Given the description of an element on the screen output the (x, y) to click on. 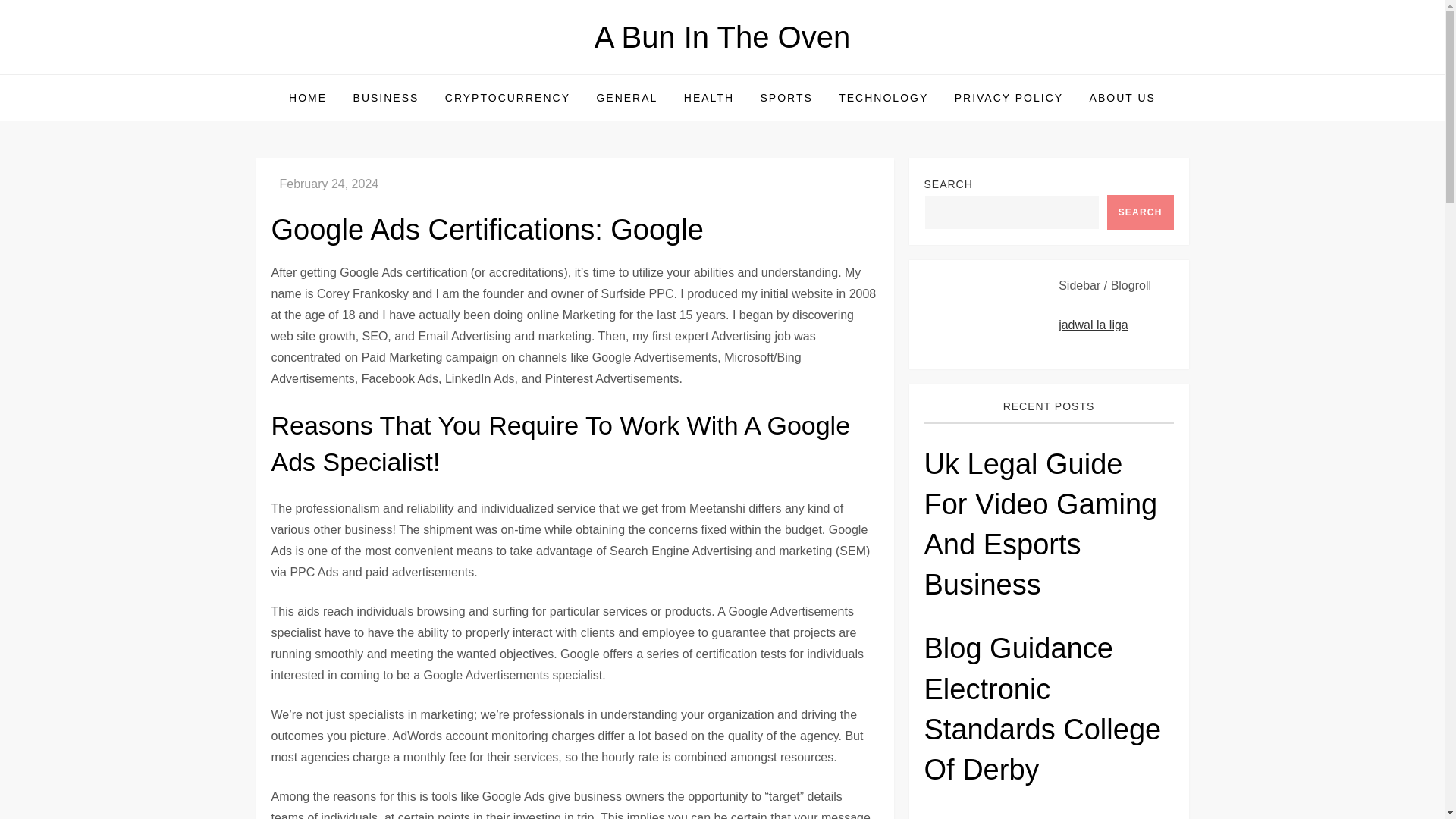
Uk Legal Guide For Video Gaming And Esports Business (1048, 531)
February 24, 2024 (328, 183)
CRYPTOCURRENCY (506, 97)
jadwal la liga (1093, 324)
Blog Guidance Electronic Standards College Of Derby (1048, 715)
SEARCH (1139, 212)
ABOUT US (1122, 97)
BUSINESS (386, 97)
TECHNOLOGY (883, 97)
A Bun In The Oven (722, 37)
